Given the description of an element on the screen output the (x, y) to click on. 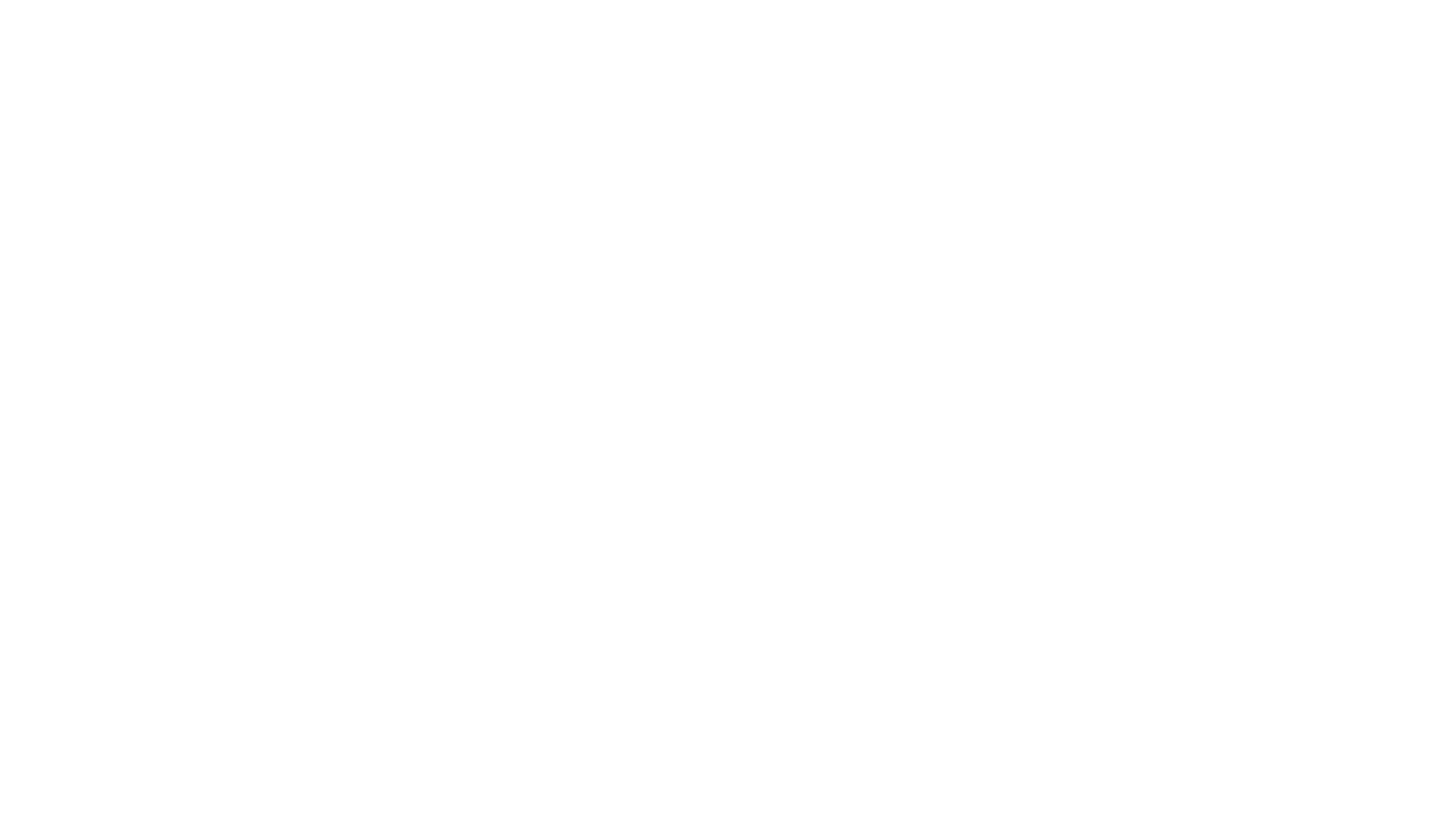
2 Element type: text (955, 430)
1 Element type: text (908, 430)
